Given the description of an element on the screen output the (x, y) to click on. 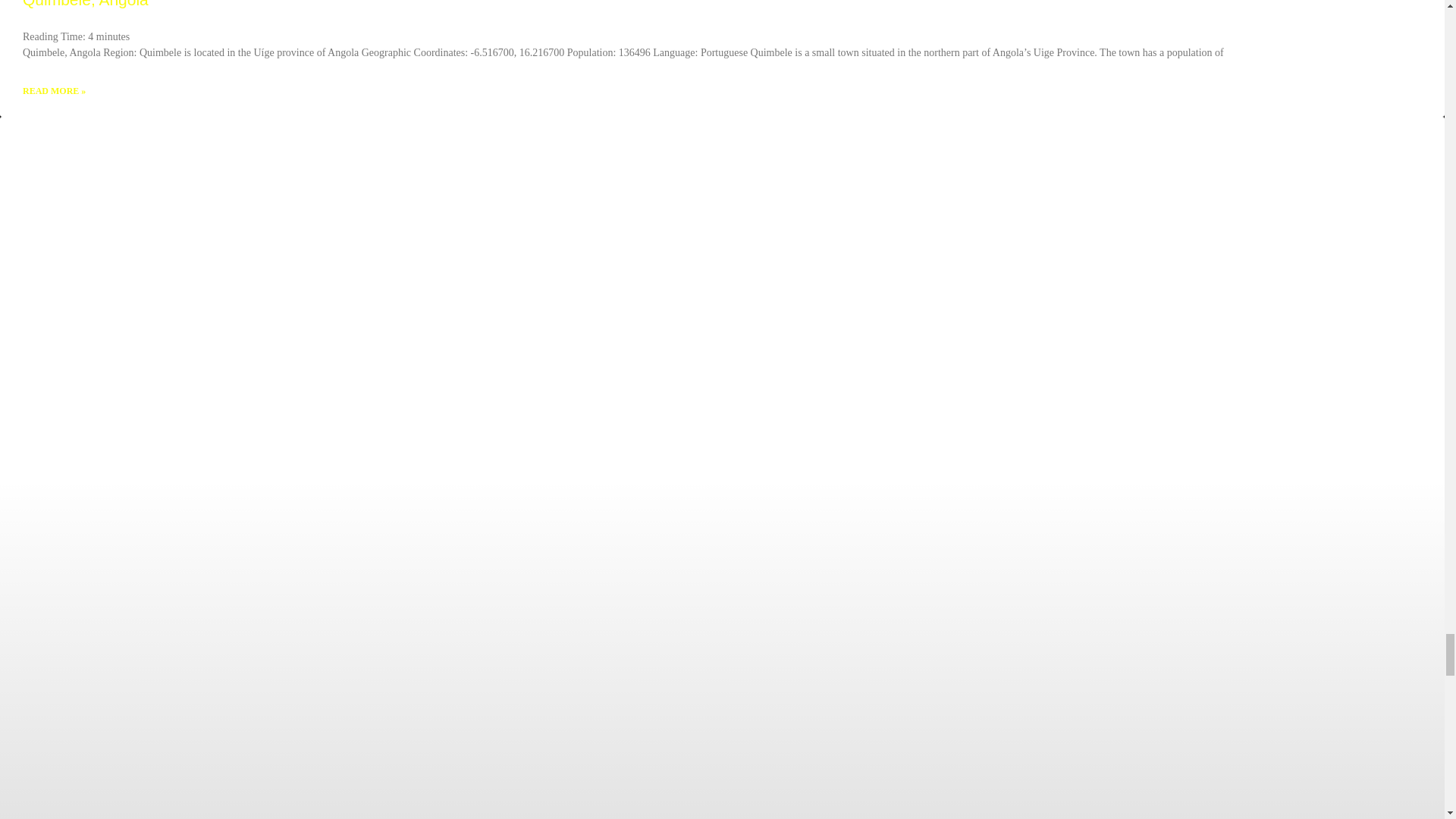
Quimbele, Angola (85, 4)
